Given the description of an element on the screen output the (x, y) to click on. 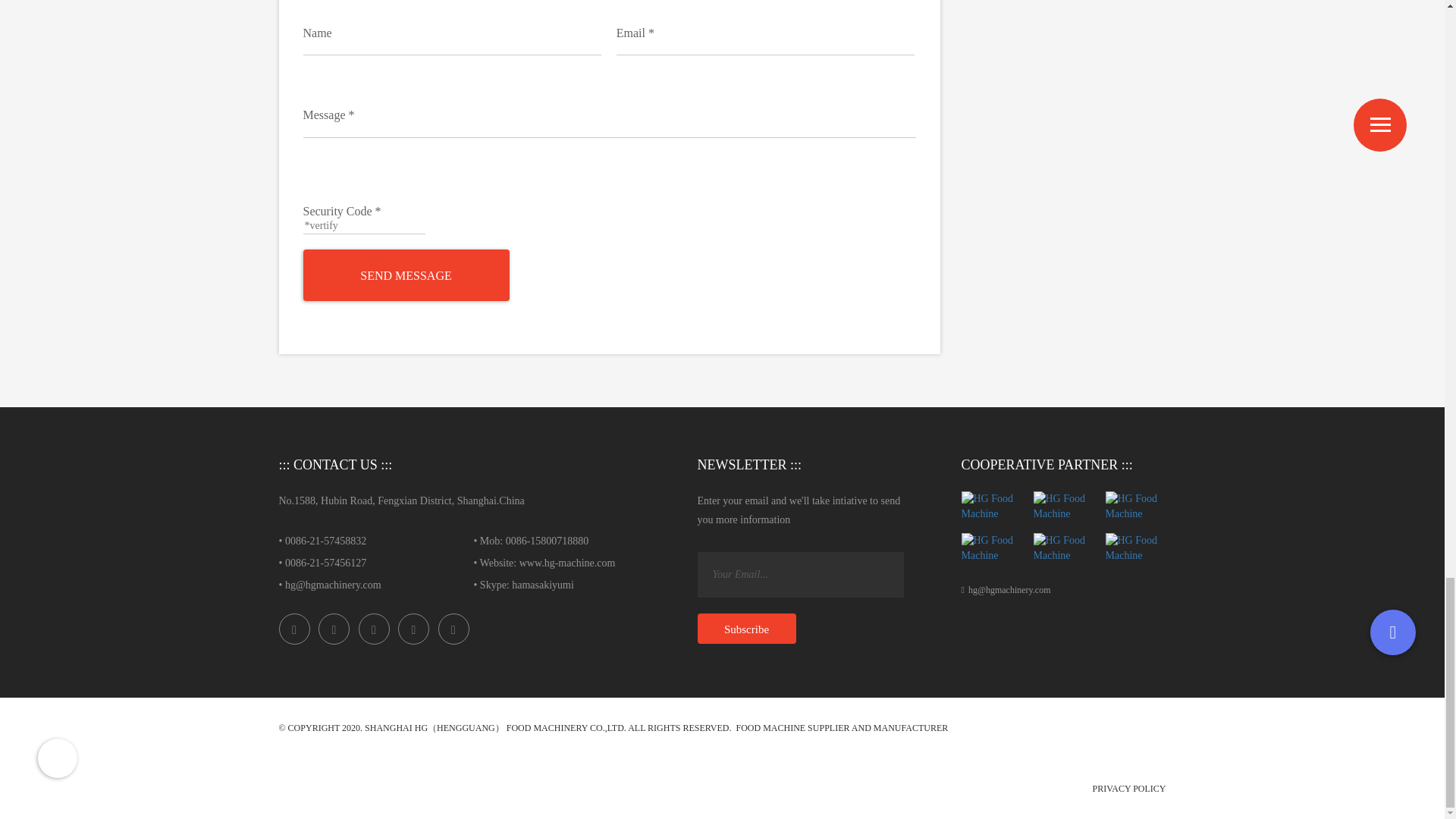
Subscribe (746, 628)
SEND MESSAGE (405, 275)
